Given the description of an element on the screen output the (x, y) to click on. 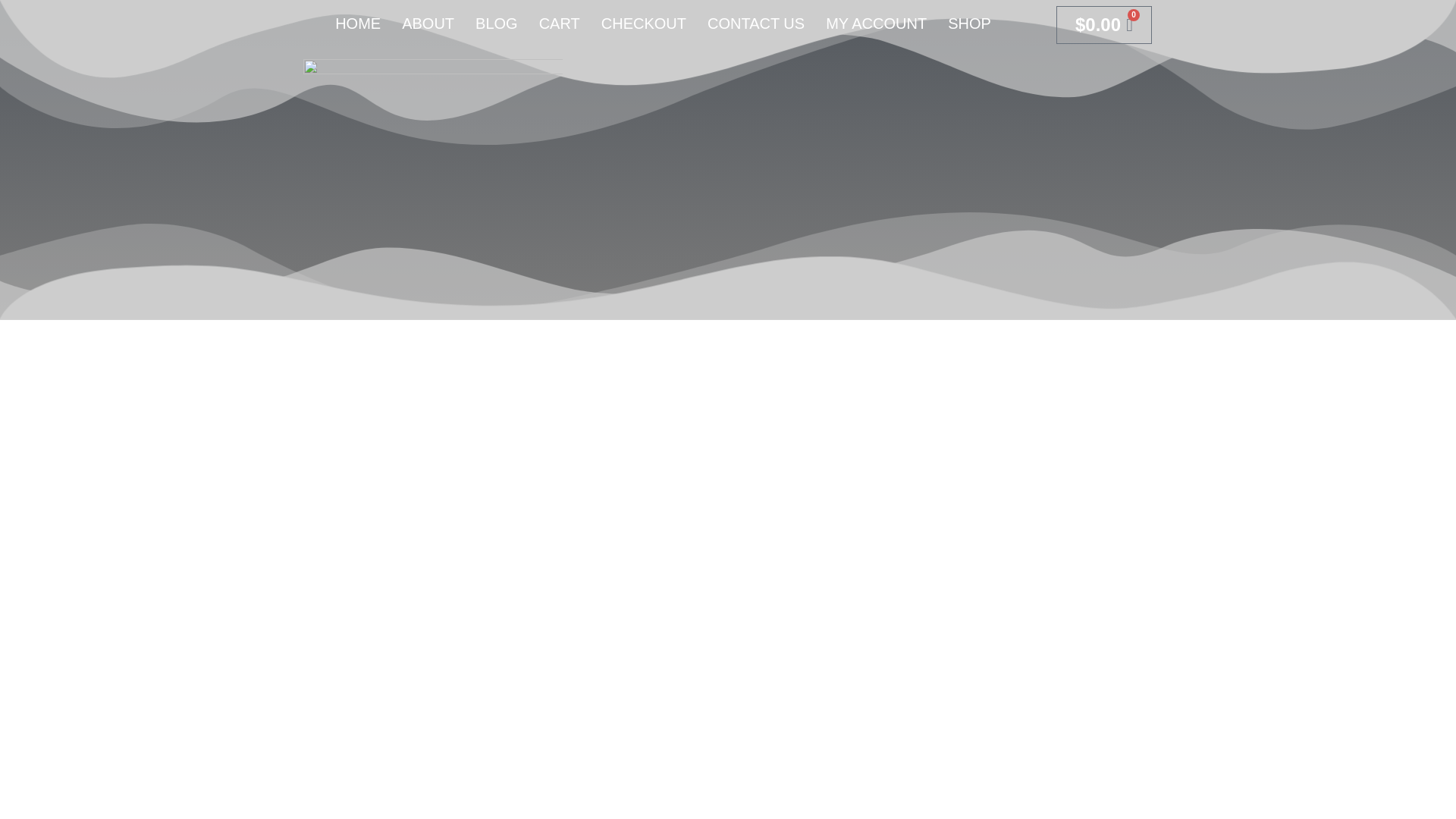
SHOP (969, 22)
BLOG (496, 22)
HOME (357, 22)
CONTACT US (756, 22)
MY ACCOUNT (876, 22)
CHECKOUT (644, 22)
CART (559, 22)
ABOUT (427, 22)
